Given the description of an element on the screen output the (x, y) to click on. 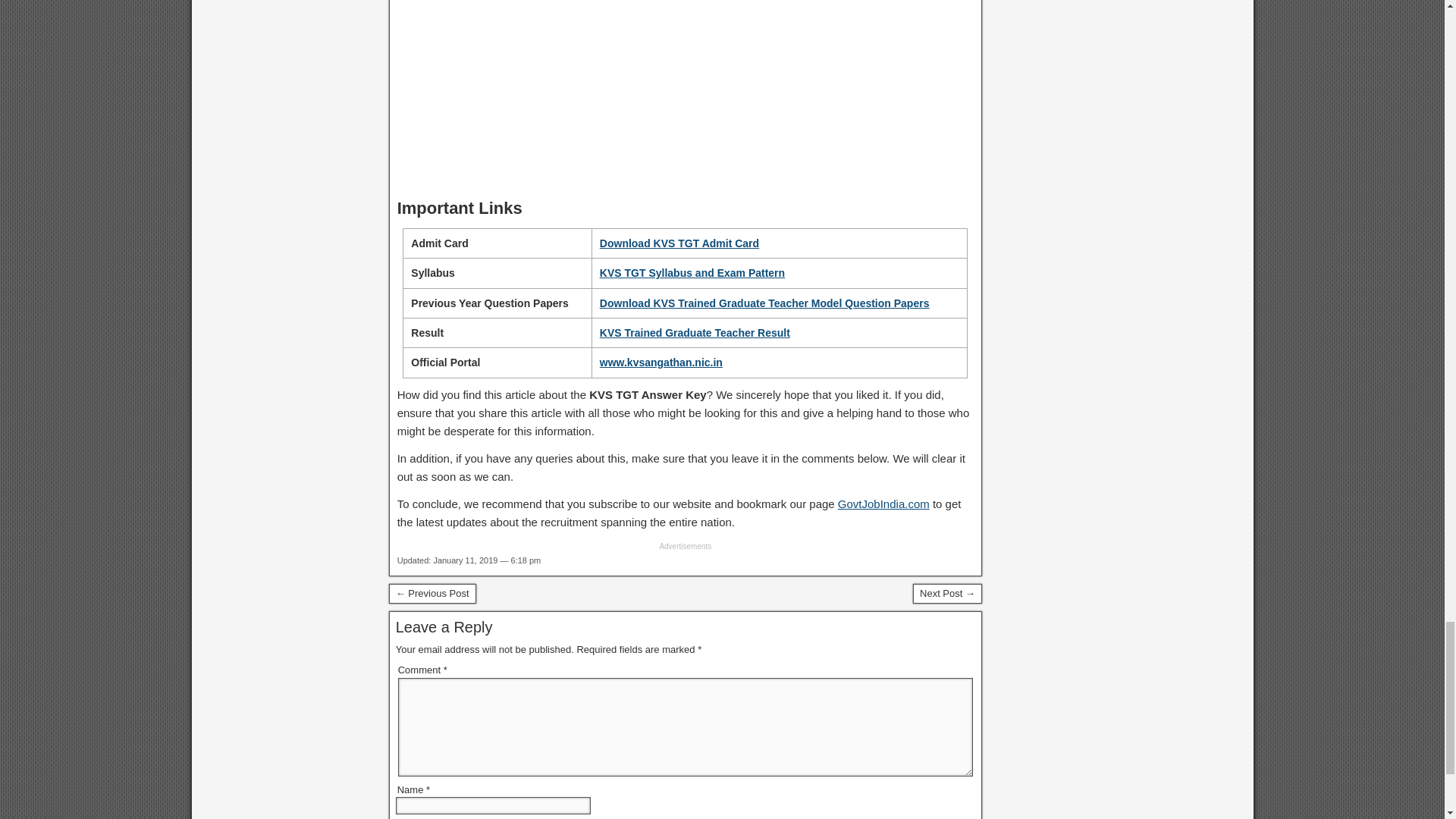
KVS TGT Syllabus and Exam Pattern (691, 272)
GovtJobIndia.com (884, 503)
KVS Trained Graduate Teacher Result (694, 332)
Download KVS TGT Admit Card (678, 243)
Download KVS Trained Graduate Teacher Model Question Papers (764, 303)
www.kvsangathan.nic.in (660, 362)
